Given the description of an element on the screen output the (x, y) to click on. 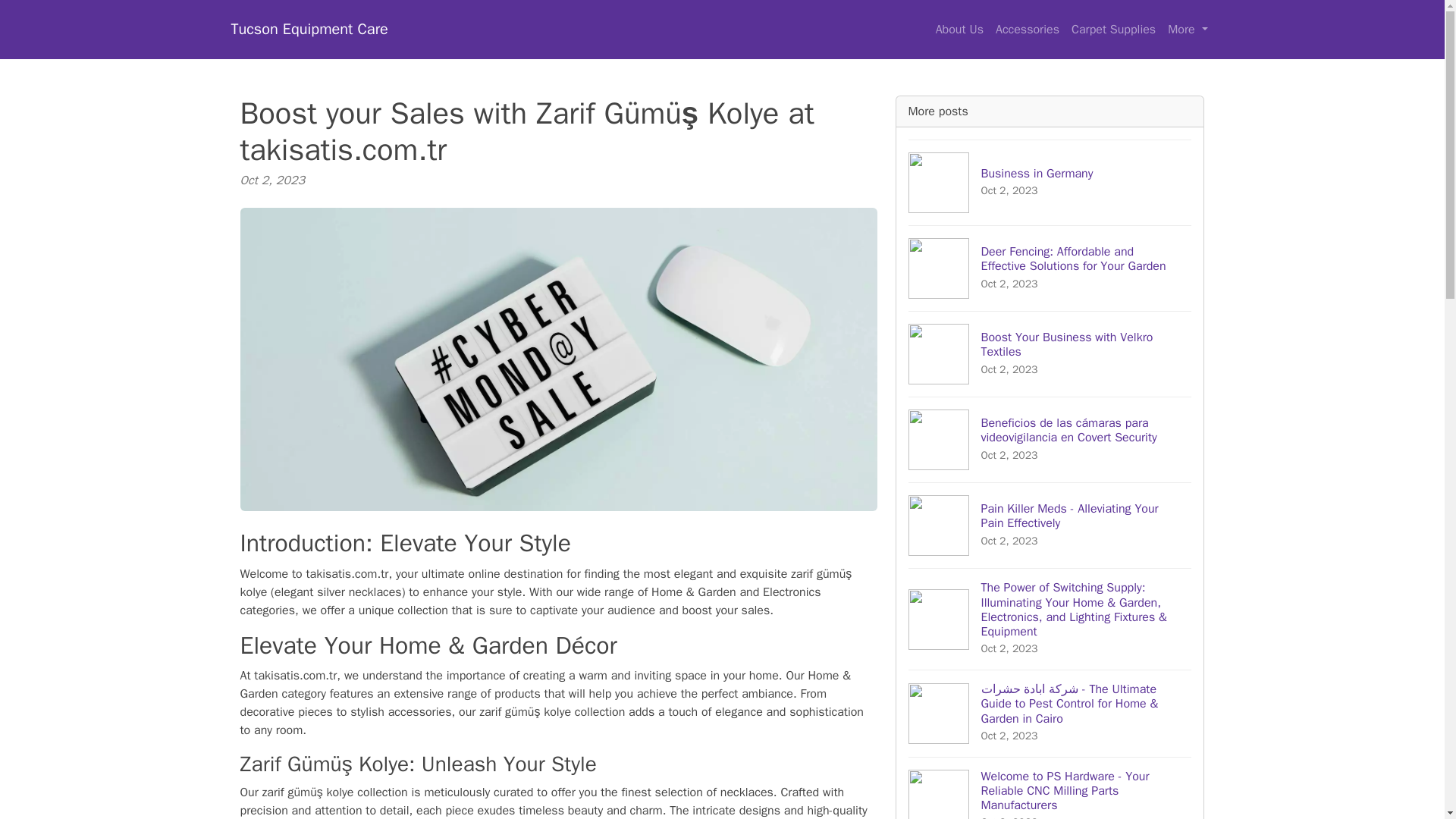
Carpet Supplies (1113, 29)
About Us (960, 29)
Tucson Equipment Care (308, 29)
Accessories (1027, 29)
More (1186, 29)
